Given the description of an element on the screen output the (x, y) to click on. 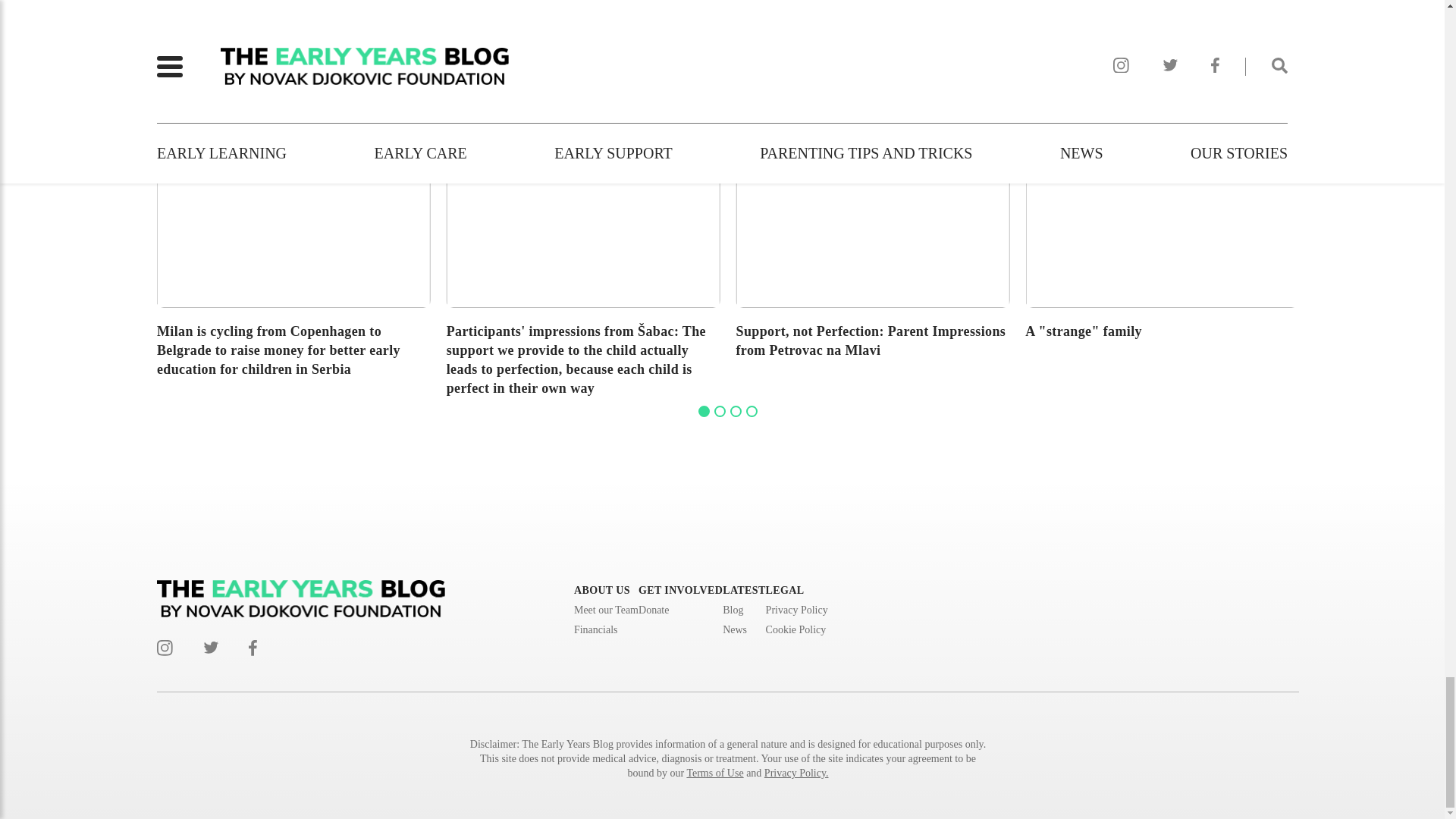
A "strange" family (1161, 246)
